Given the description of an element on the screen output the (x, y) to click on. 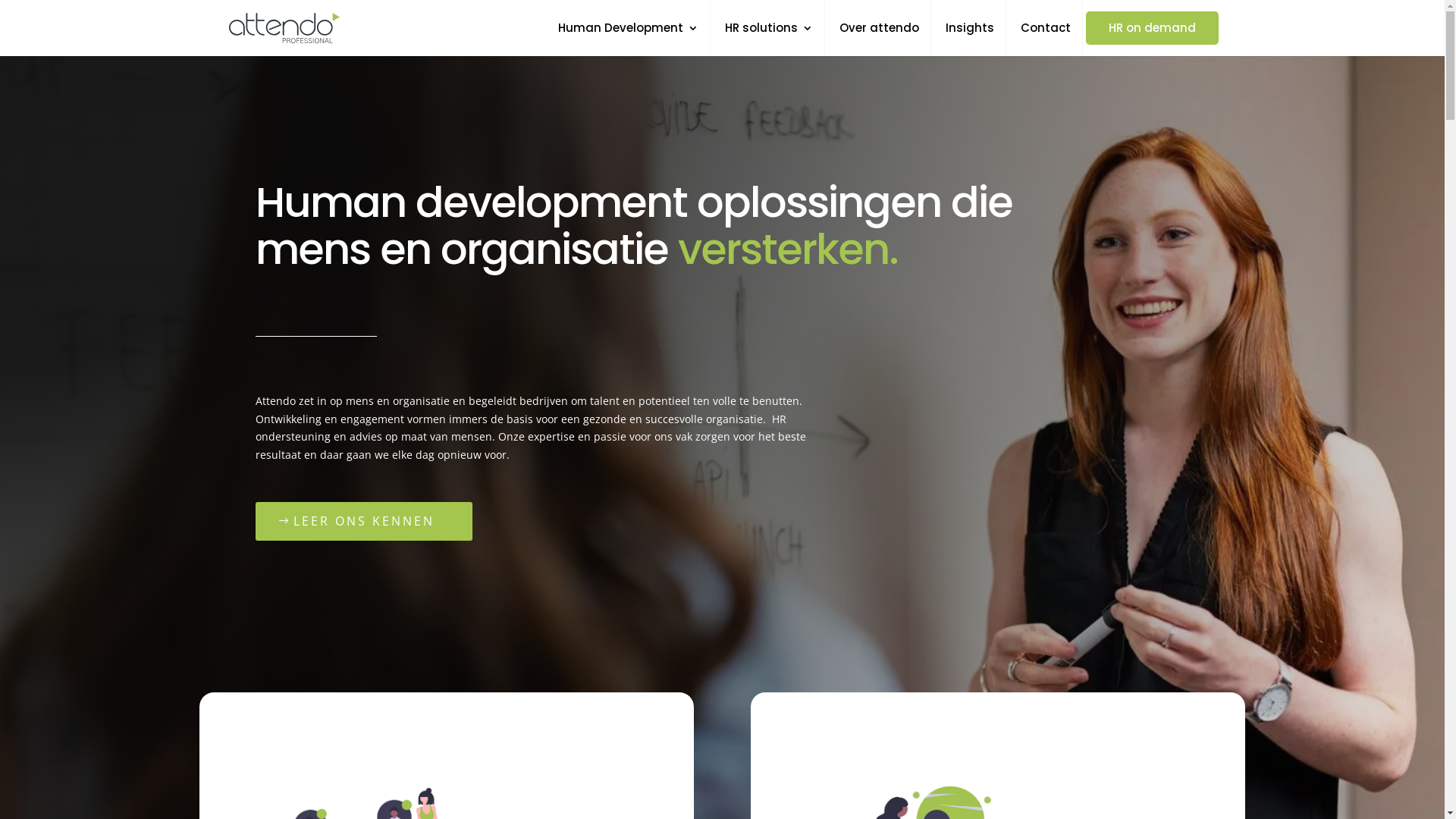
Insights Element type: text (969, 39)
Contact Element type: text (1045, 39)
Over attendo Element type: text (879, 39)
HR on demand Element type: text (1151, 27)
Human Development Element type: text (628, 39)
LEER ONS KENNEN Element type: text (363, 521)
HR solutions Element type: text (768, 39)
